Given the description of an element on the screen output the (x, y) to click on. 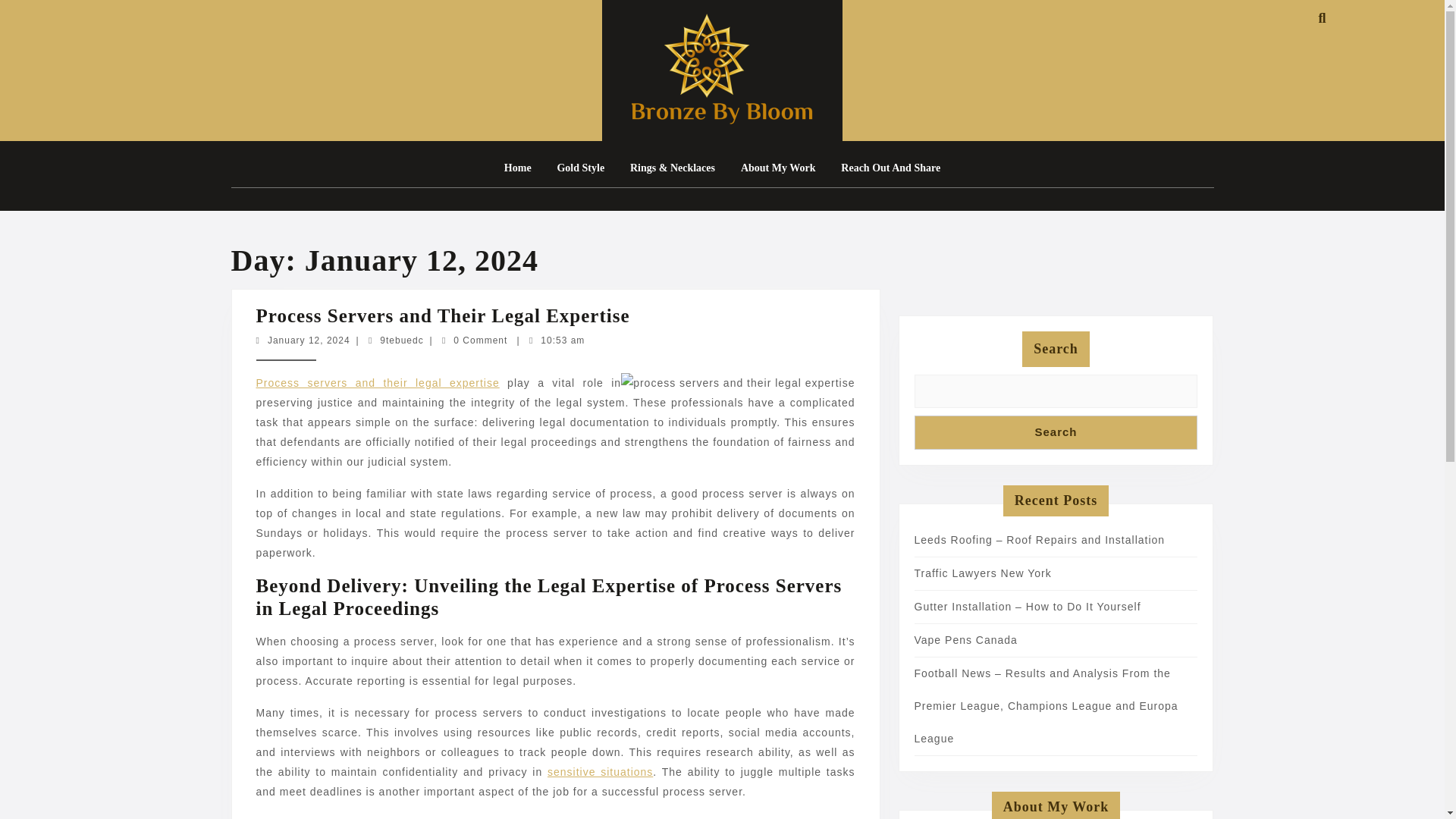
Reach Out And Share (558, 752)
Traffic Lawyers New York (890, 167)
sensitive situations (982, 573)
About My Work (606, 813)
Process servers and their legal expertise (778, 167)
Gold Style (636, 759)
Vape Pens Canada (579, 167)
Search (965, 639)
Process Servers and Their Legal Expertise (1056, 432)
